Given the description of an element on the screen output the (x, y) to click on. 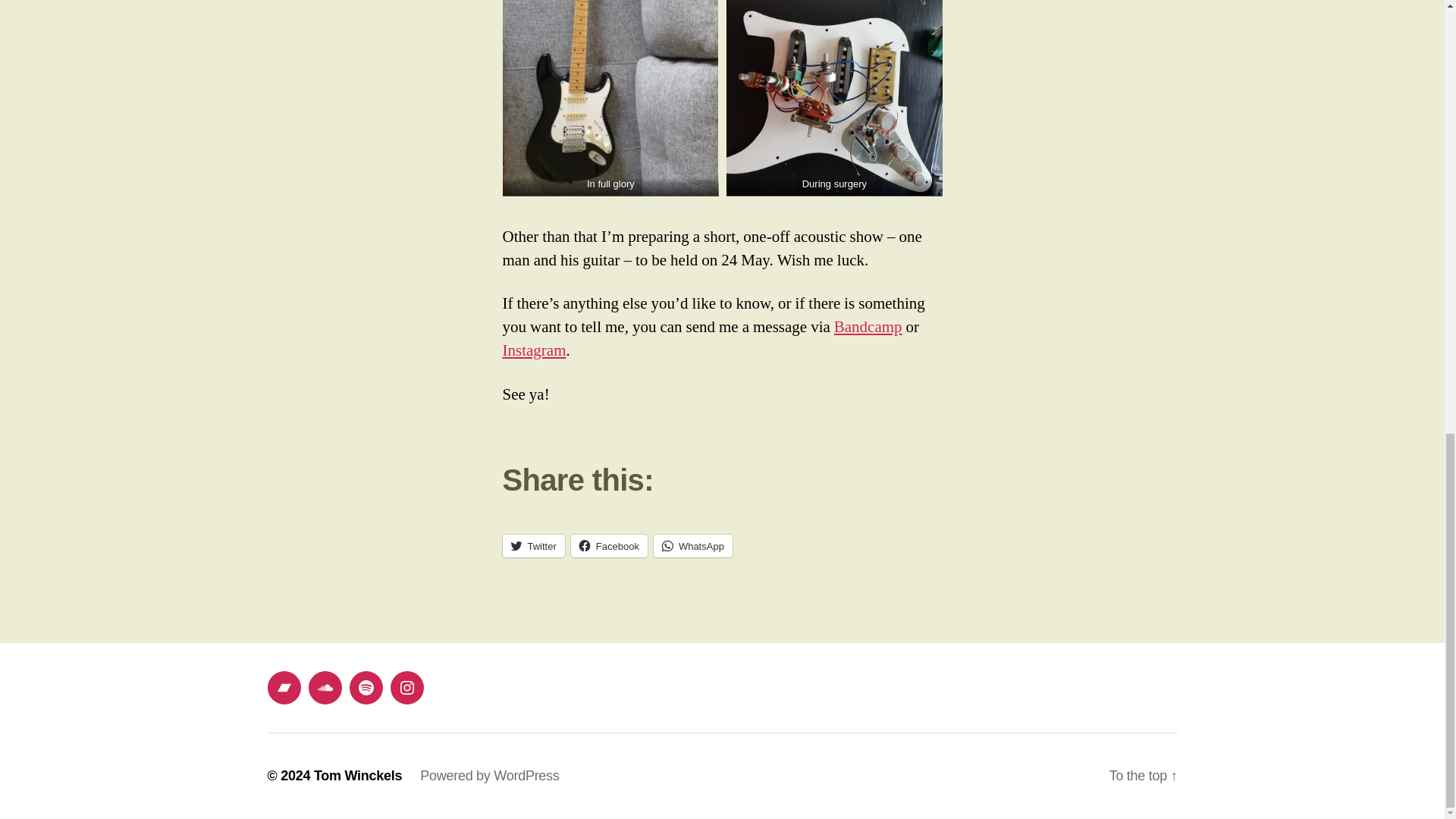
Bandcamp (282, 687)
Soundcloud (323, 687)
Click to share on Facebook (608, 545)
WhatsApp (692, 545)
Spotify (365, 687)
Instagram (534, 350)
Click to share on WhatsApp (692, 545)
Instagram (406, 687)
Powered by WordPress (489, 775)
Click to share on Twitter (533, 545)
Facebook (608, 545)
Twitter (533, 545)
Bandcamp (868, 326)
Tom Winckels (357, 775)
